Given the description of an element on the screen output the (x, y) to click on. 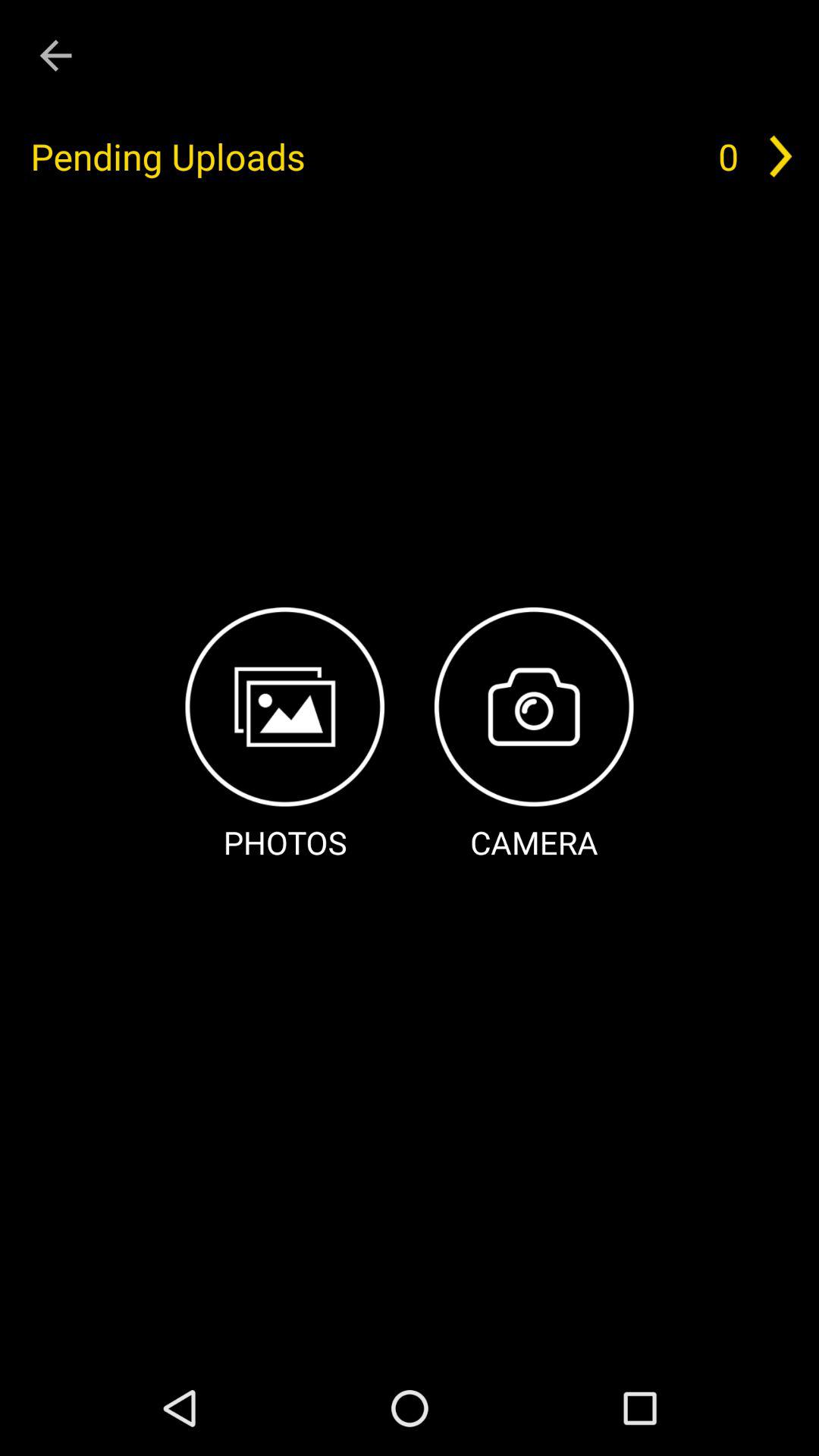
swipe to the photos item (284, 735)
